Given the description of an element on the screen output the (x, y) to click on. 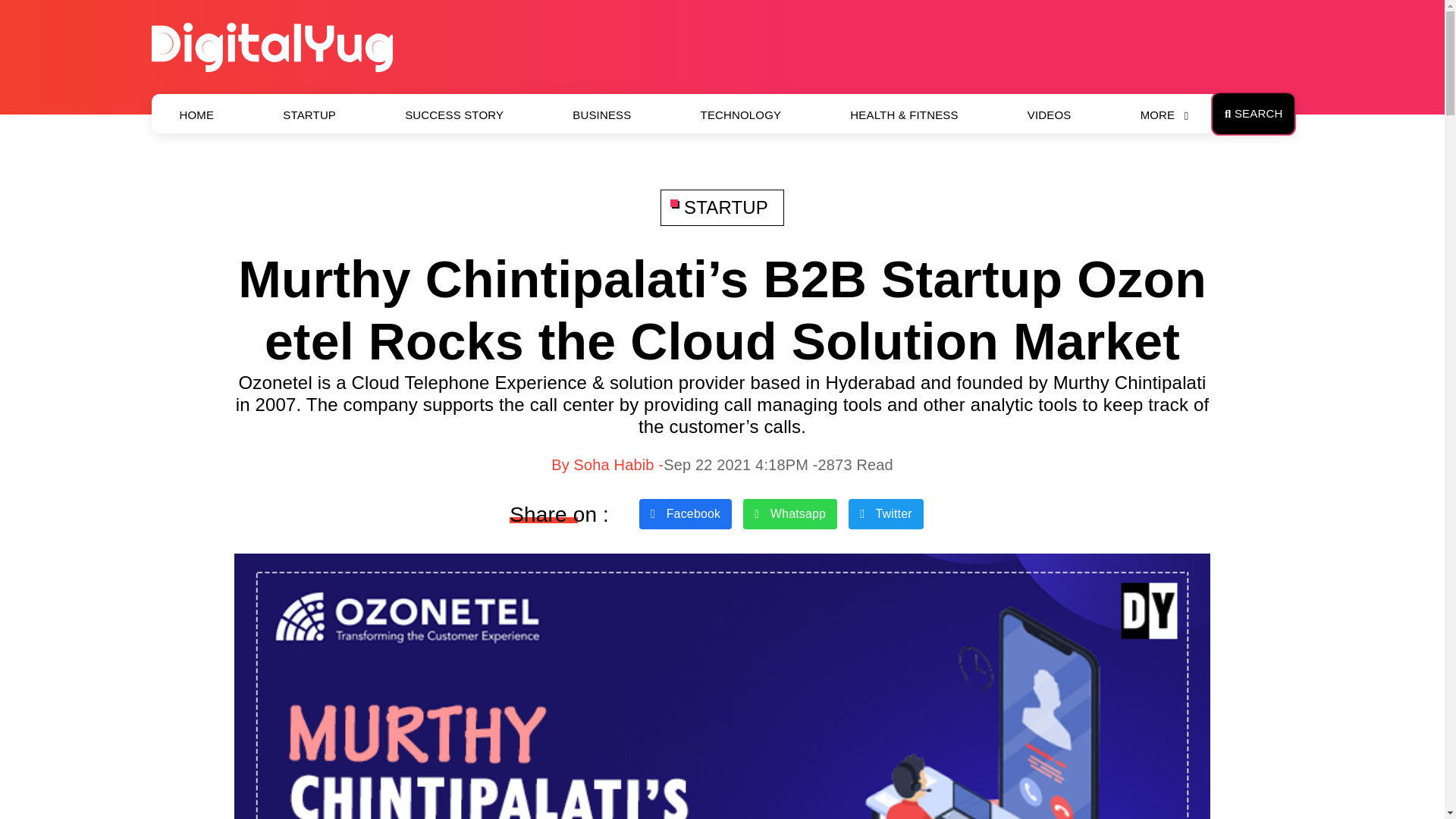
Share on Whatsapp (789, 513)
TECHNOLOGY (740, 115)
Success Story (454, 115)
STARTUP (308, 115)
HOME (196, 115)
More (1157, 115)
Share on Twitter (885, 513)
DigitalYug (272, 45)
SUCCESS STORY (454, 115)
Technology (740, 115)
Whatsapp (789, 513)
MORE (1157, 115)
Videos (1049, 115)
VIDEOS (1049, 115)
Search (1253, 114)
